Given the description of an element on the screen output the (x, y) to click on. 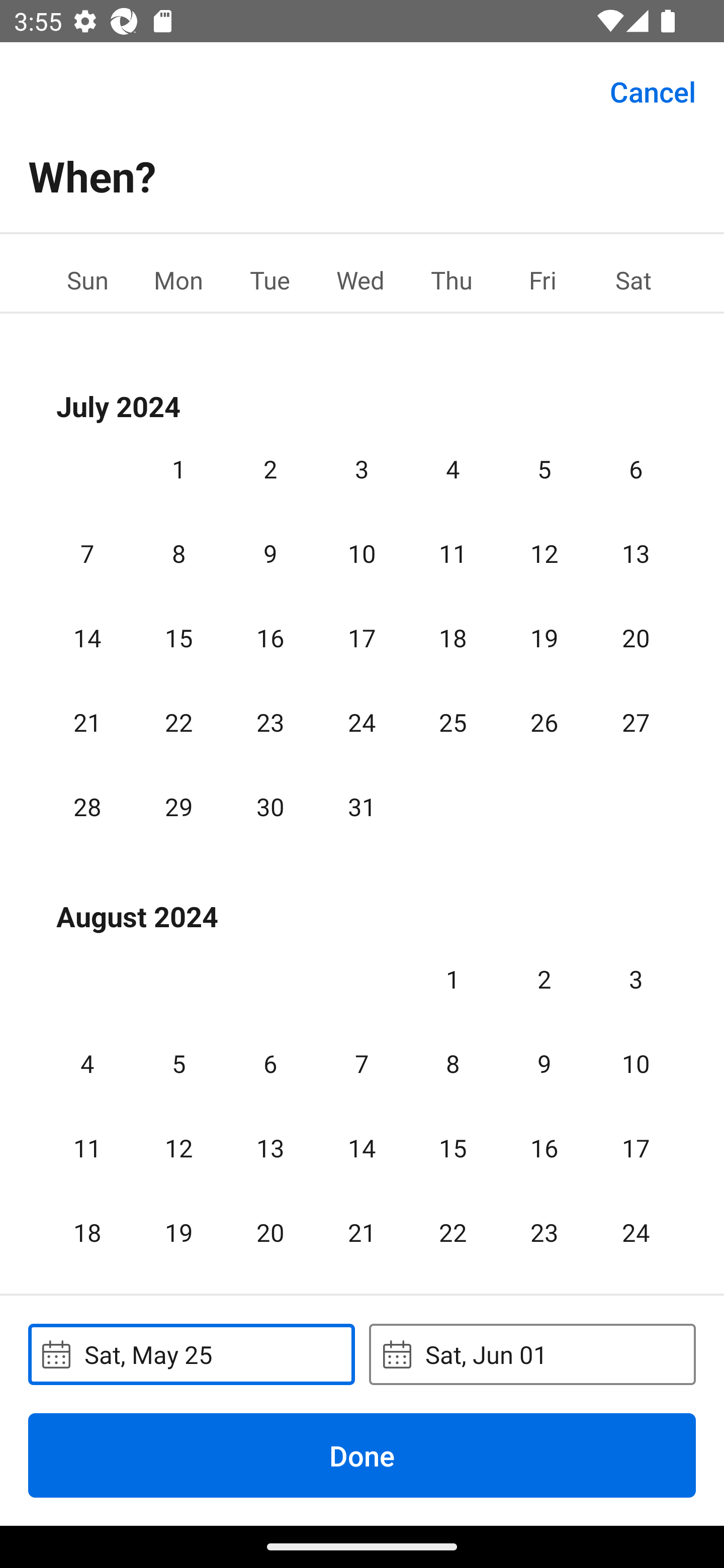
Cancel (652, 90)
Sat, May 25 (191, 1353)
Sat, Jun 01 (532, 1353)
Done (361, 1454)
